Given the description of an element on the screen output the (x, y) to click on. 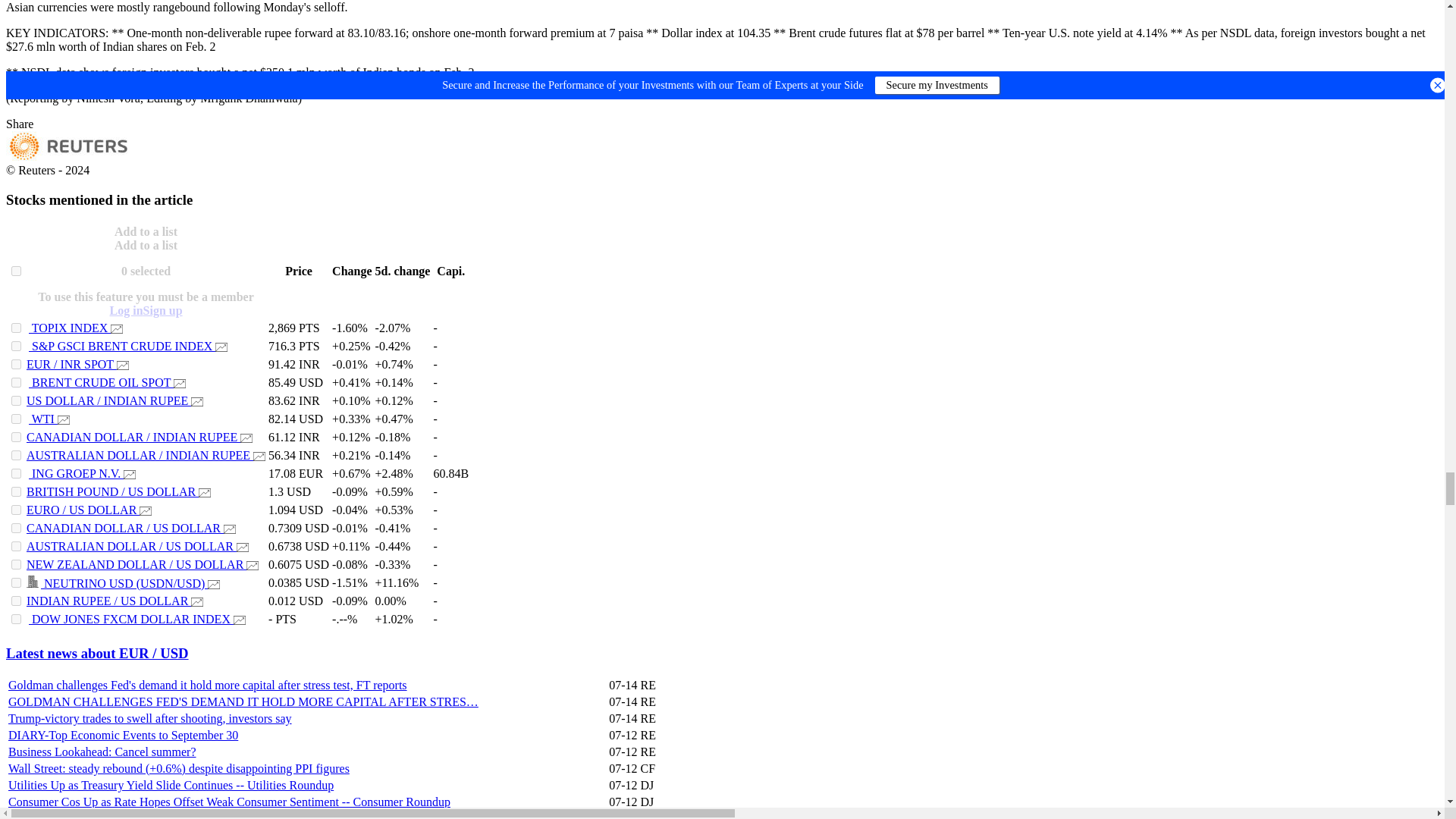
on (16, 455)
on (16, 437)
0 selected (145, 271)
on (16, 510)
on (16, 364)
on (16, 419)
on (16, 473)
on (16, 382)
on (16, 327)
on (16, 400)
on (16, 491)
on (16, 271)
on (16, 346)
